Given the description of an element on the screen output the (x, y) to click on. 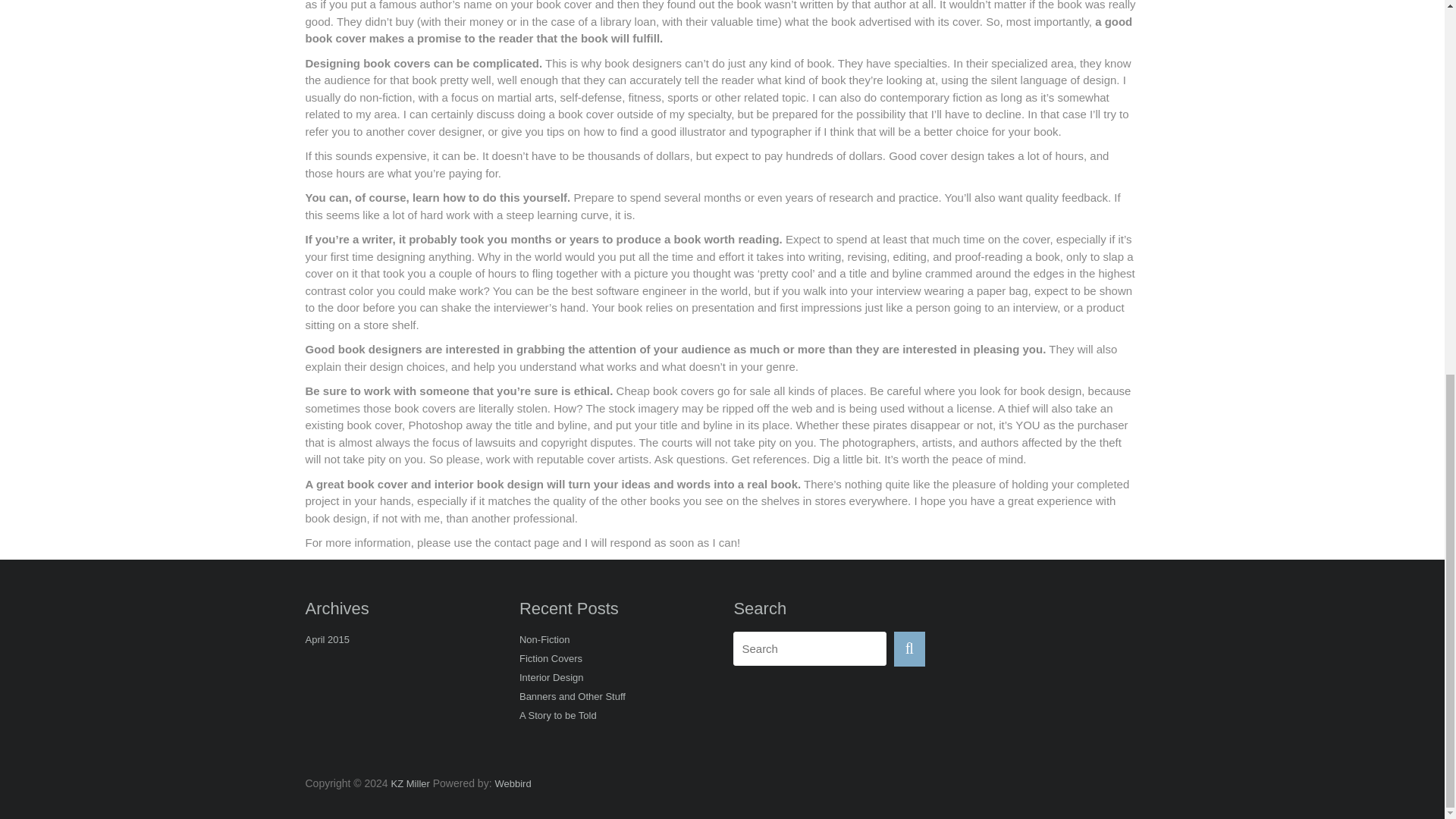
KZ Miller (410, 783)
April 2015 (326, 640)
Non-Fiction (544, 640)
Webbird (513, 783)
Fiction Covers (550, 659)
Banners and Other Stuff (572, 697)
Interior Design (551, 678)
KZ Miller (410, 783)
A Story to be Told (557, 716)
